Given the description of an element on the screen output the (x, y) to click on. 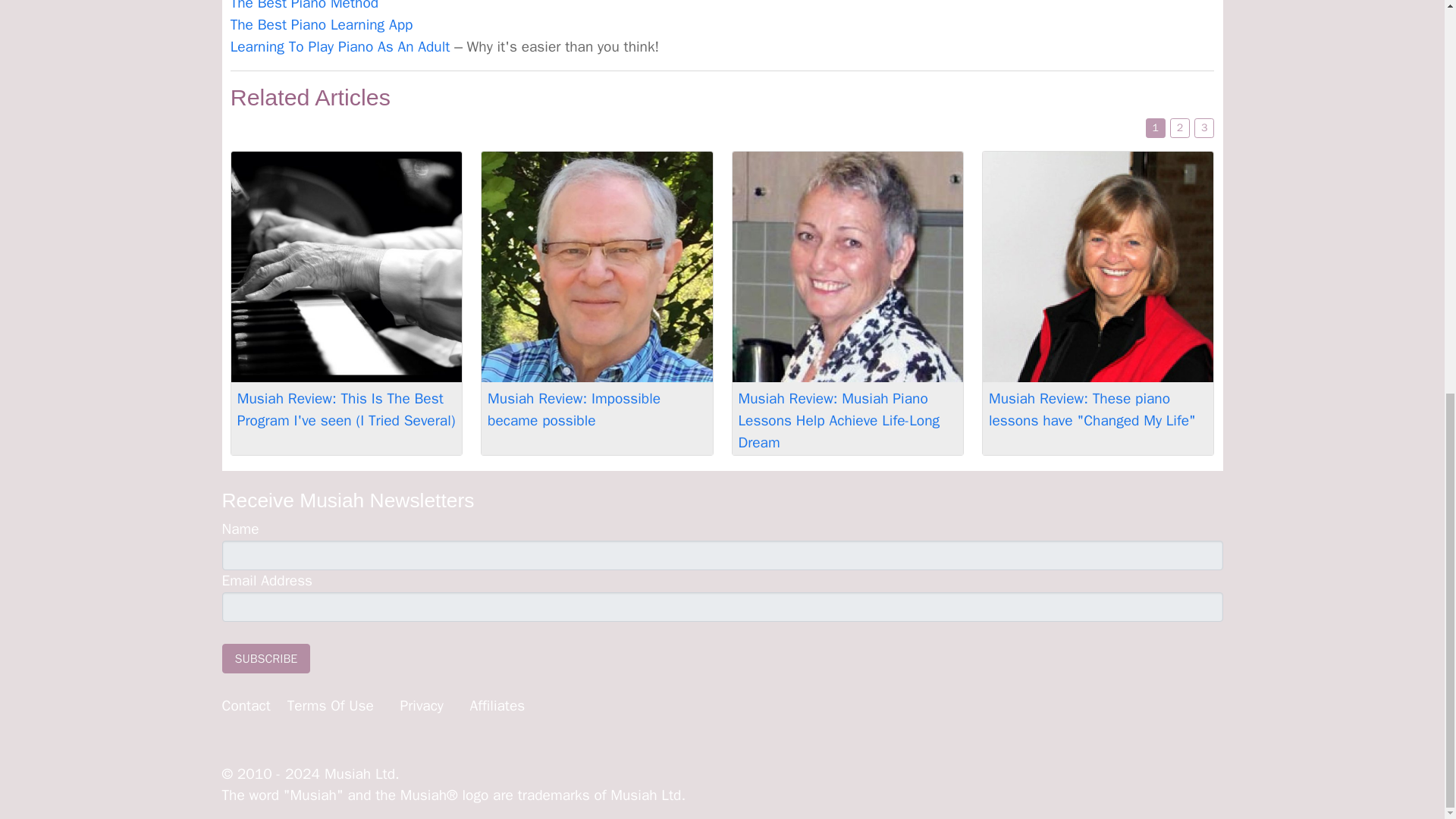
The Best Method For Learning Piano (304, 6)
Learning Piano As An Adult (339, 46)
SUBSCRIBE (265, 658)
Privacy Policy (421, 705)
Best Piano Learning App (321, 24)
Website Terms Of Use (330, 705)
Contact Musiah Support (251, 705)
Affiliates (496, 705)
